Given the description of an element on the screen output the (x, y) to click on. 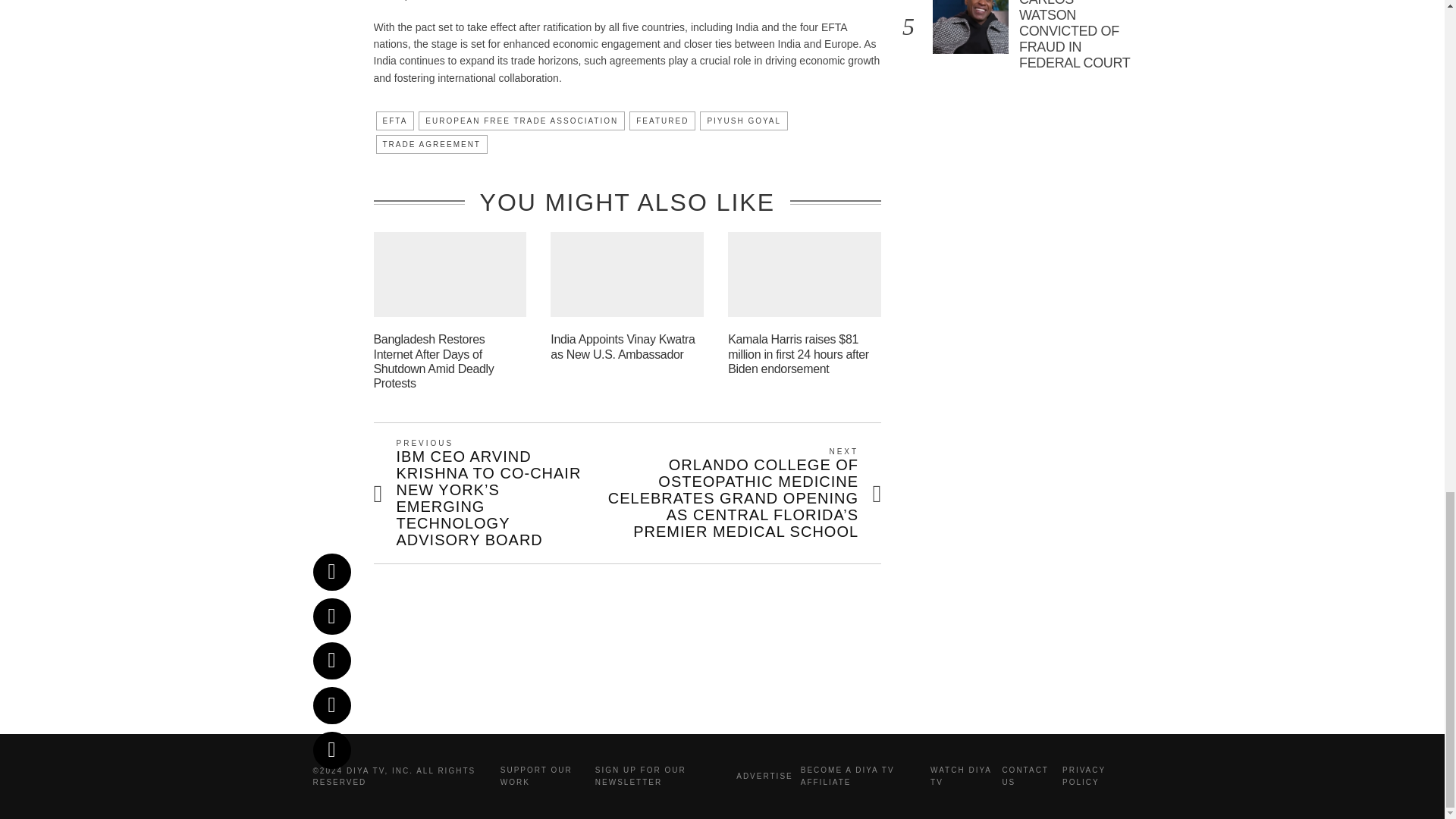
PIYUSH GOYAL (743, 120)
India Appoints Vinay Kwatra as New U.S. Ambassador  (622, 346)
EFTA (394, 120)
FEATURED (661, 120)
EUROPEAN FREE TRADE ASSOCIATION (521, 120)
TRADE AGREEMENT (431, 144)
3rd party ad content (722, 675)
